Given the description of an element on the screen output the (x, y) to click on. 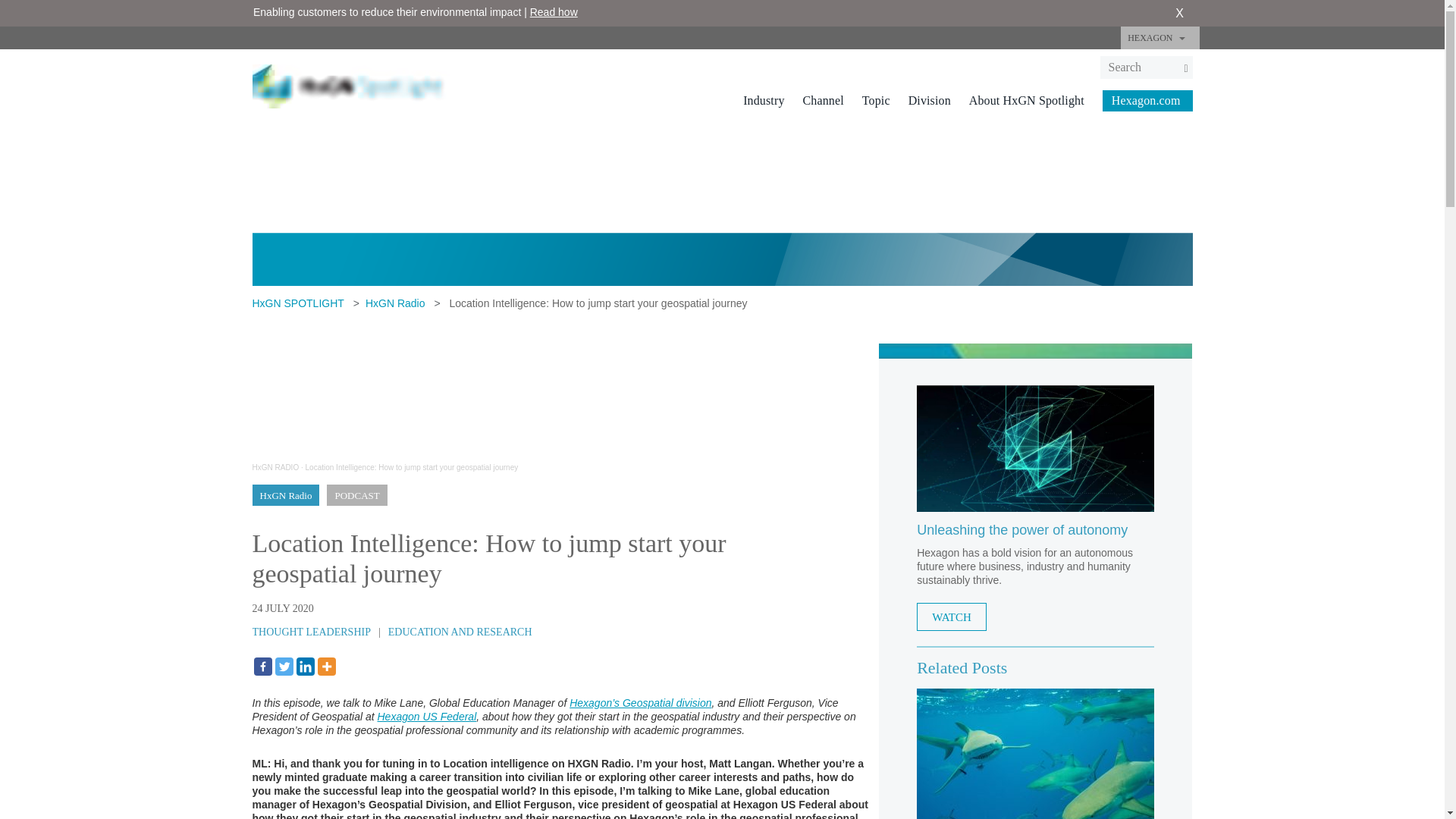
Facebook (261, 666)
Read how (553, 11)
More (325, 666)
HEXAGON (1159, 37)
R-Evolution: Blue Carbon Project (1035, 753)
Twitter (283, 666)
HxGN Spotlight (357, 85)
HxGN RADIO (274, 467)
Linkedin (304, 666)
